Given the description of an element on the screen output the (x, y) to click on. 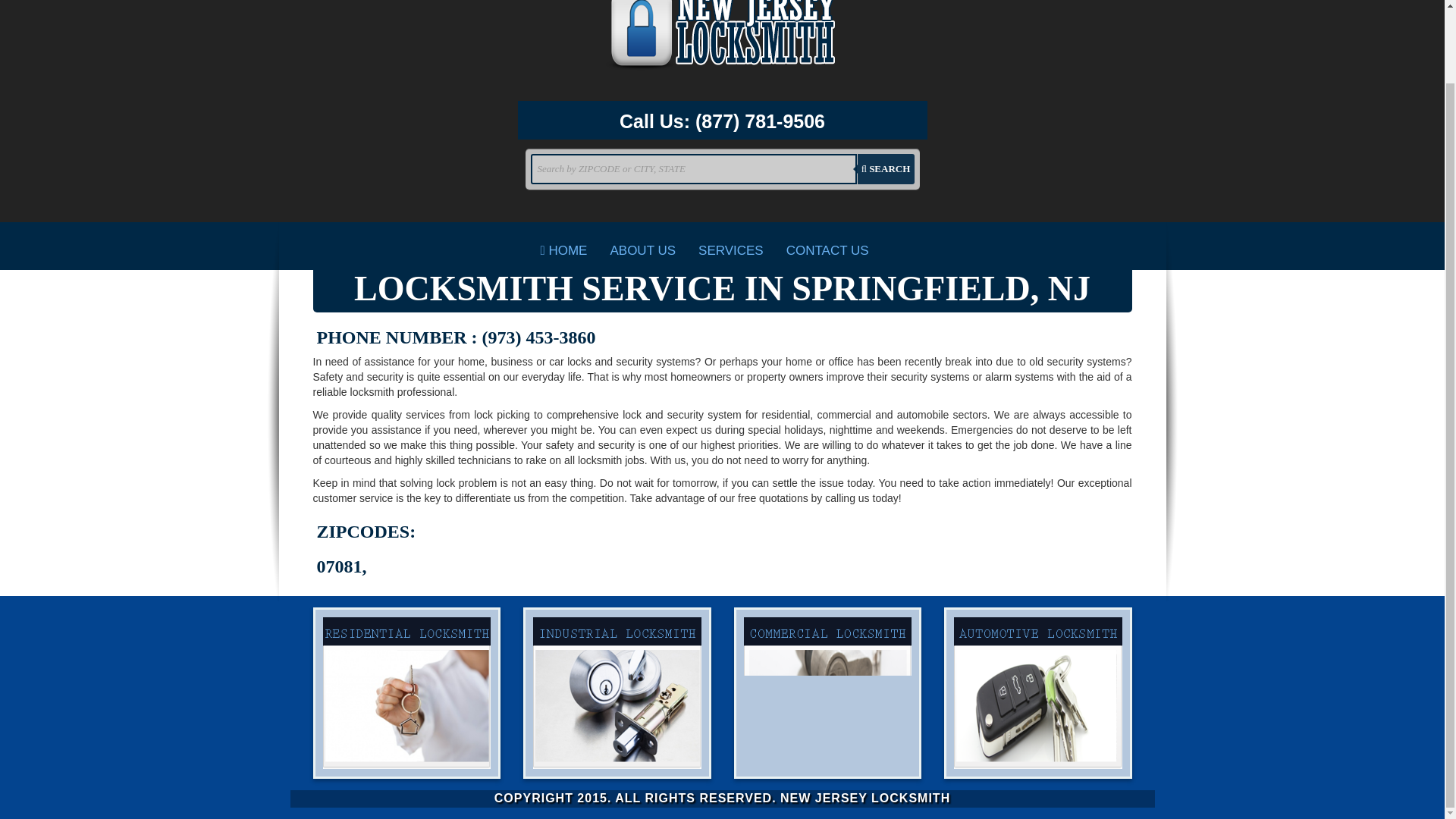
Residential Locksmith (406, 693)
SERVICES (730, 250)
CONTACT US (827, 250)
SEARCH (885, 168)
Industrial Locksmith (616, 693)
ABOUT US (642, 250)
Automotive Locksmith (1037, 693)
Commercial Locksmith (827, 693)
HOME (563, 250)
